Given the description of an element on the screen output the (x, y) to click on. 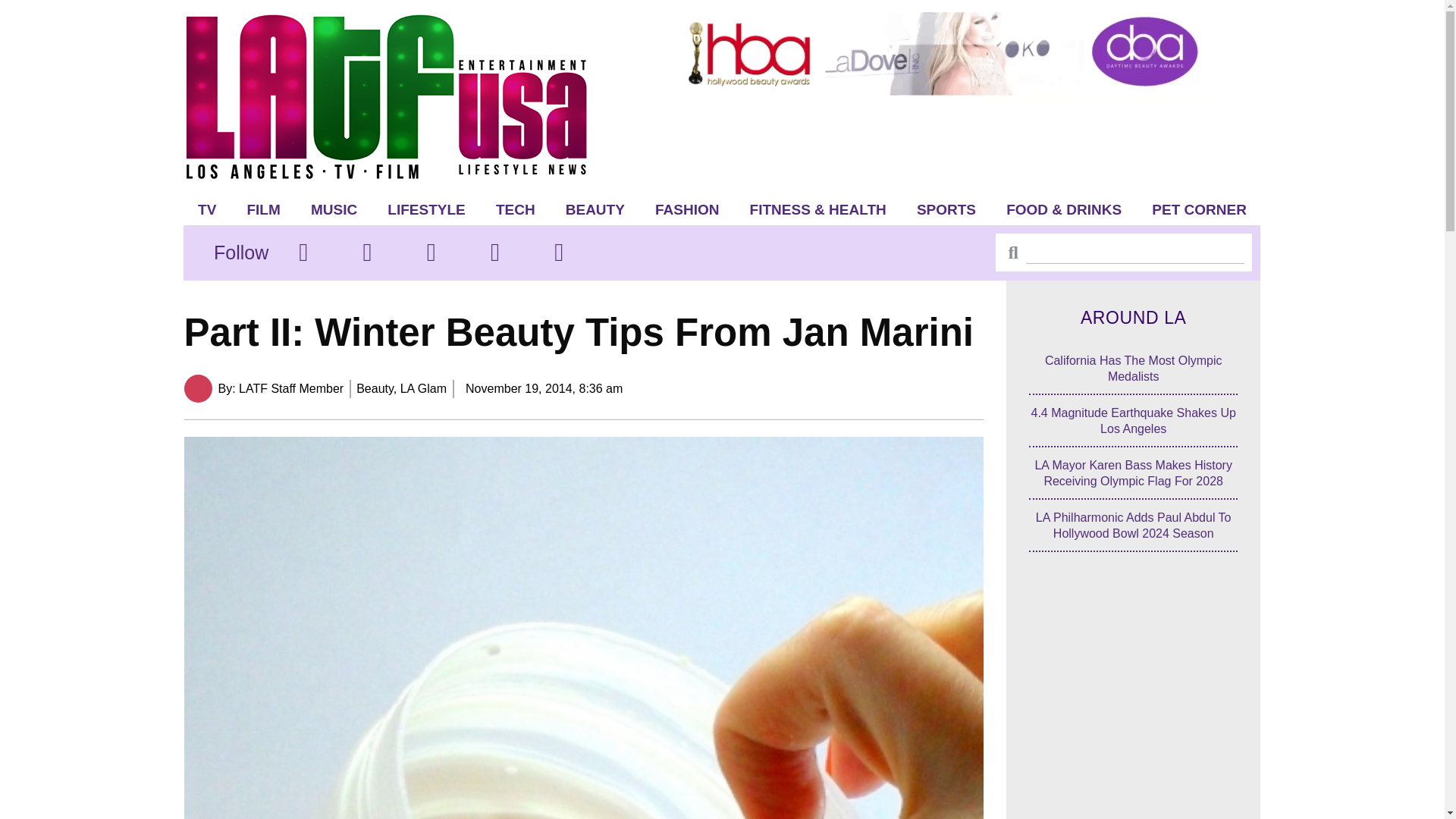
FILM (263, 209)
BEAUTY (595, 209)
FASHION (687, 209)
PET CORNER (1199, 209)
LIFESTYLE (426, 209)
TV (207, 209)
SPORTS (946, 209)
MUSIC (333, 209)
TECH (515, 209)
